Given the description of an element on the screen output the (x, y) to click on. 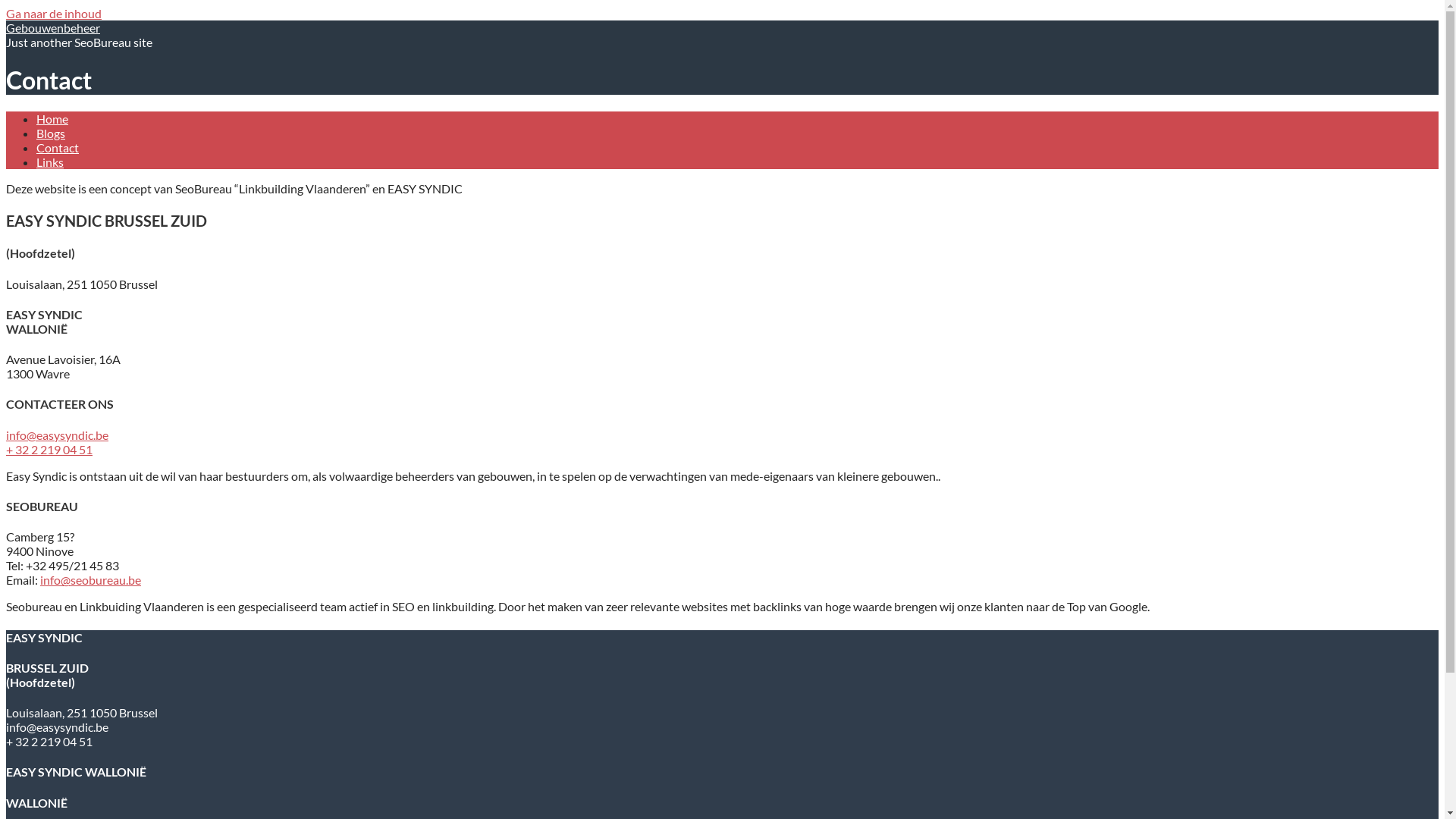
Gebouwenbeheer Element type: text (53, 27)
Links Element type: text (49, 161)
+ 32 2 219 04 51 Element type: text (49, 449)
Home Element type: text (52, 118)
Contact Element type: text (57, 147)
info@seobureau.be Element type: text (90, 579)
Ga naar de inhoud Element type: text (53, 13)
Blogs Element type: text (50, 132)
info@easysyndic.be Element type: text (57, 434)
